Given the description of an element on the screen output the (x, y) to click on. 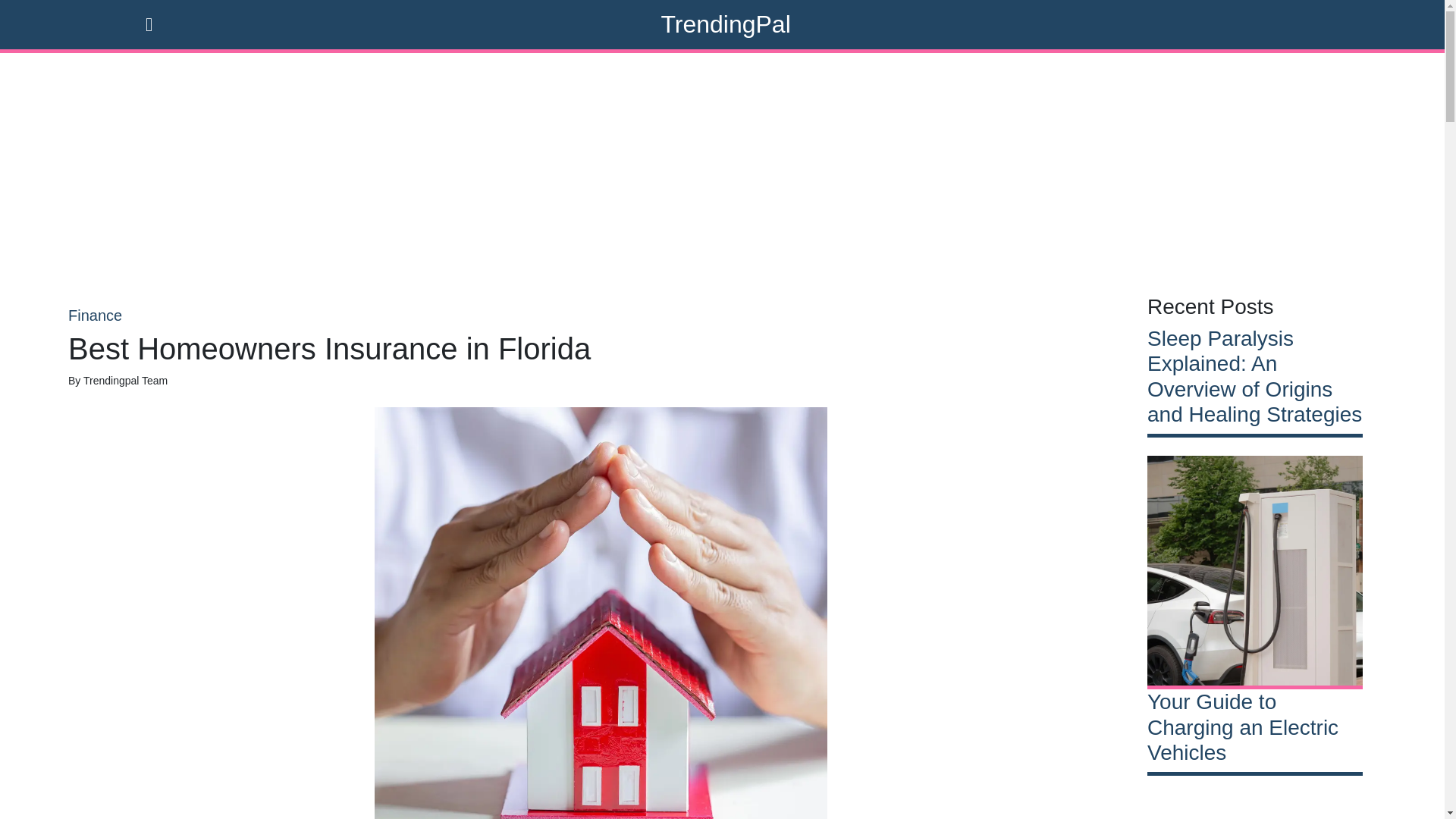
Finance (601, 315)
Your Guide to Charging an Electric Vehicles (1254, 727)
Advertisement (1254, 806)
TrendingPal (725, 23)
